Given the description of an element on the screen output the (x, y) to click on. 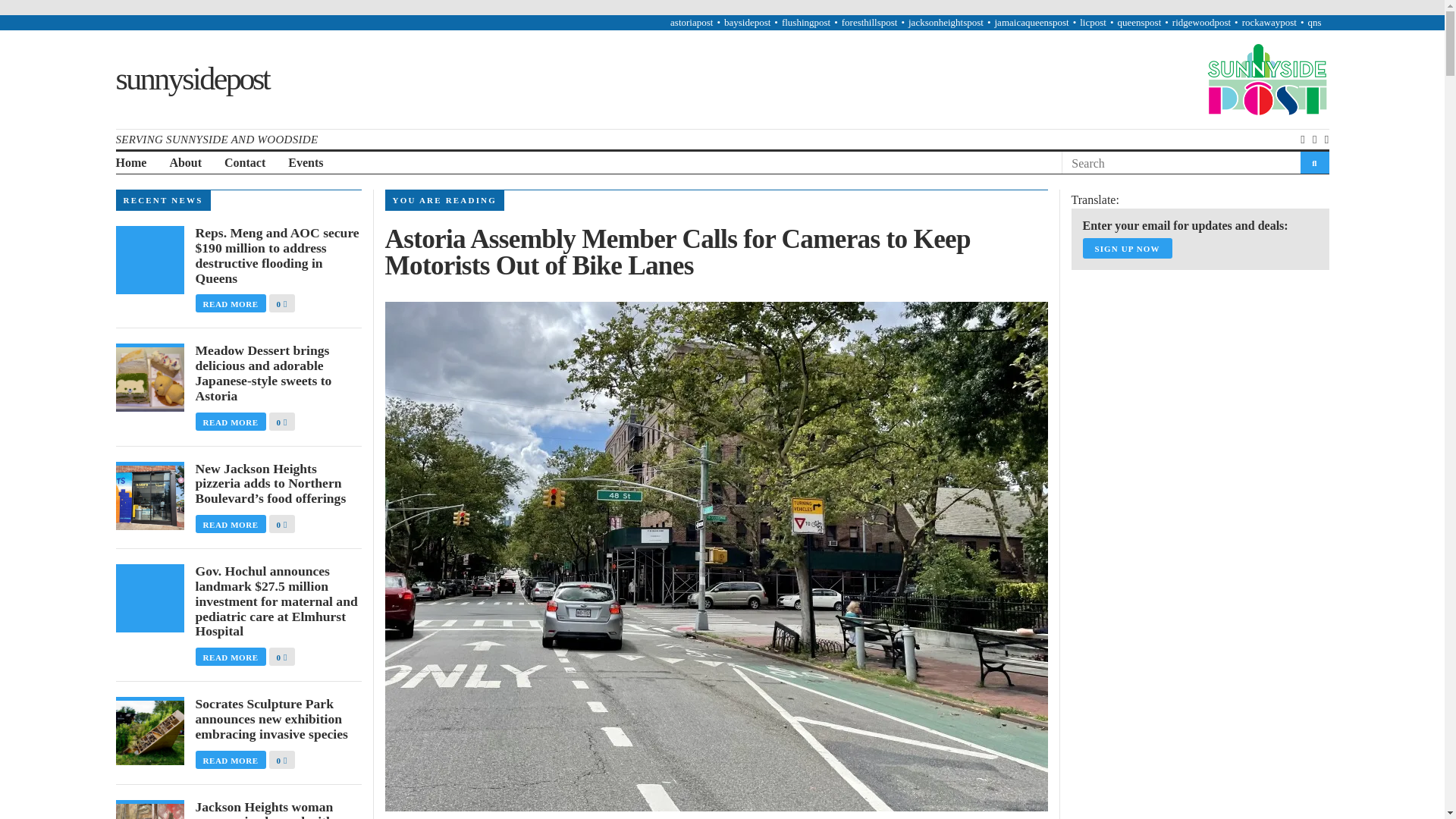
flushingpost (805, 21)
astoriapost (691, 21)
Contact (244, 163)
jacksonheightspost (946, 21)
ridgewoodpost (1201, 21)
foresthillspost (869, 21)
jamaicaqueenspost (1031, 21)
About (185, 163)
baysidepost (746, 21)
licpost (1093, 21)
